Given the description of an element on the screen output the (x, y) to click on. 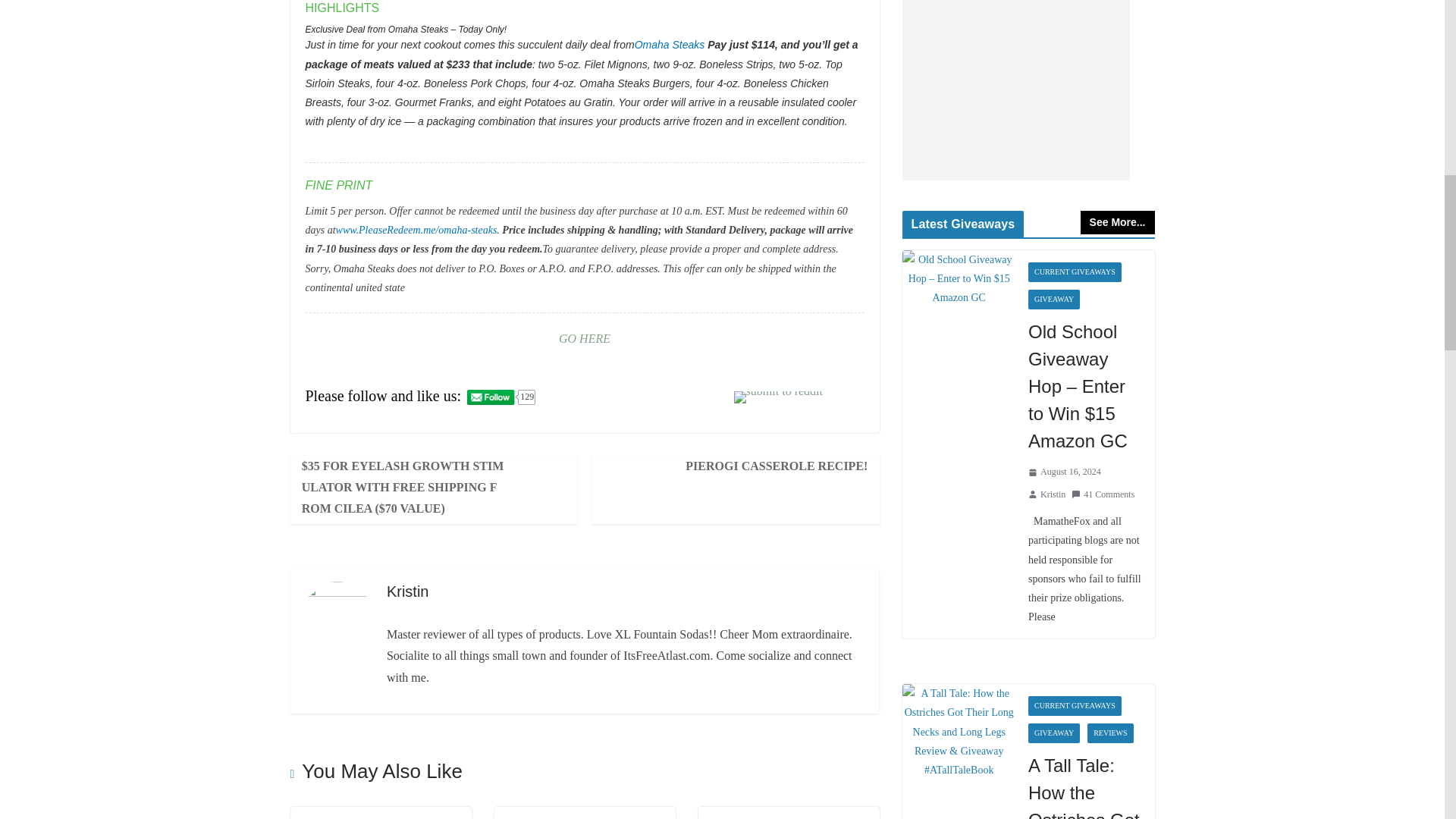
GO HERE (584, 338)
Omaha Steaks (669, 44)
PIEROGI CASSEROLE RECIPE! (771, 465)
